Given the description of an element on the screen output the (x, y) to click on. 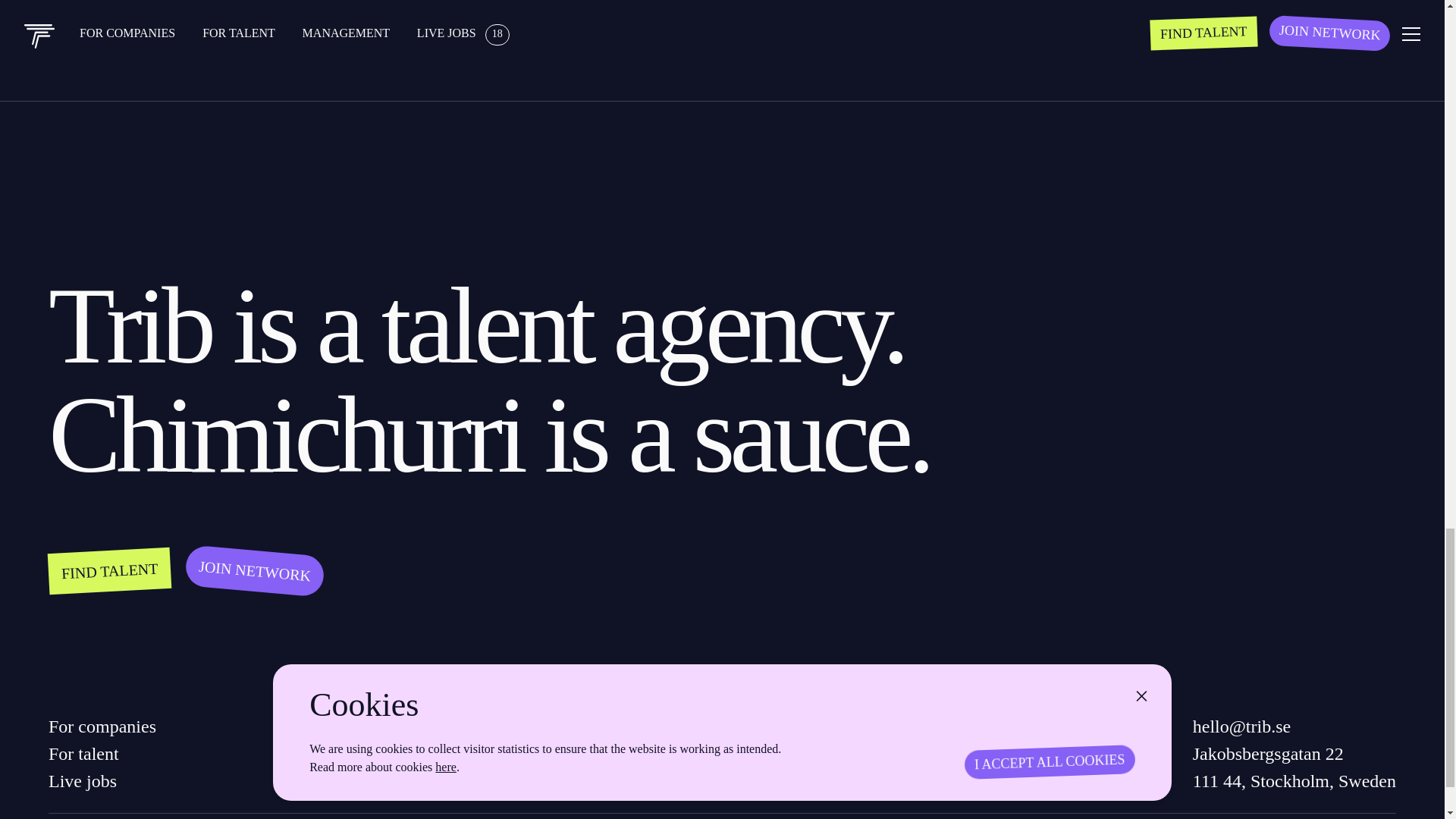
About (485, 753)
FIND TALENT (109, 567)
Team (485, 780)
For talent (101, 753)
Instagram (849, 780)
Facebook (849, 753)
JOIN NETWORK (252, 564)
Linkedin (849, 726)
Tools (485, 726)
For companies (101, 726)
Live jobs (101, 780)
